Given the description of an element on the screen output the (x, y) to click on. 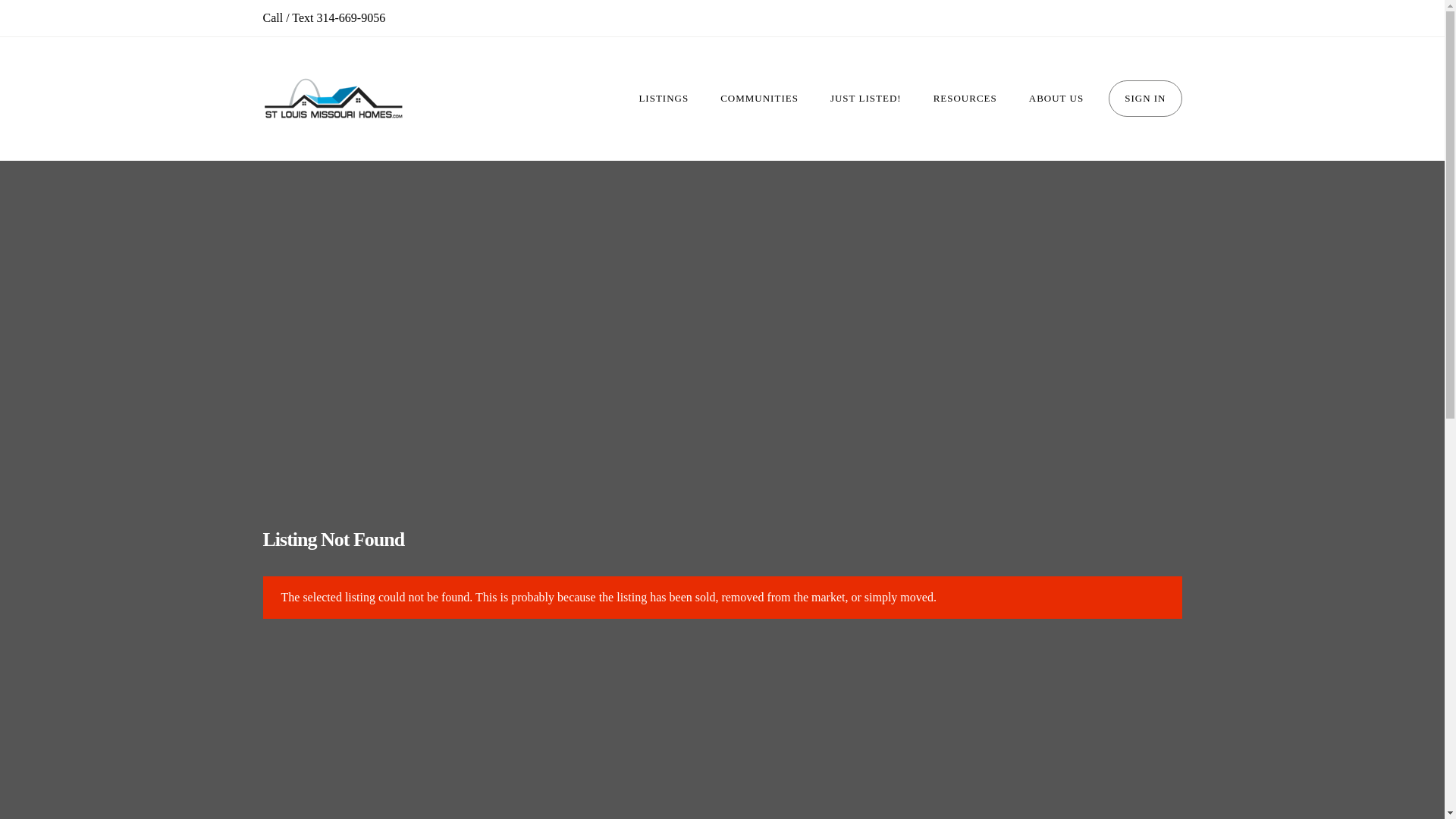
St Louis Missouri Homes Real Estate Site (332, 98)
LISTINGS (663, 98)
SIGN IN (1144, 98)
ABOUT US (1056, 98)
COMMUNITIES (758, 98)
JUST LISTED! (865, 98)
RESOURCES (965, 98)
